Given the description of an element on the screen output the (x, y) to click on. 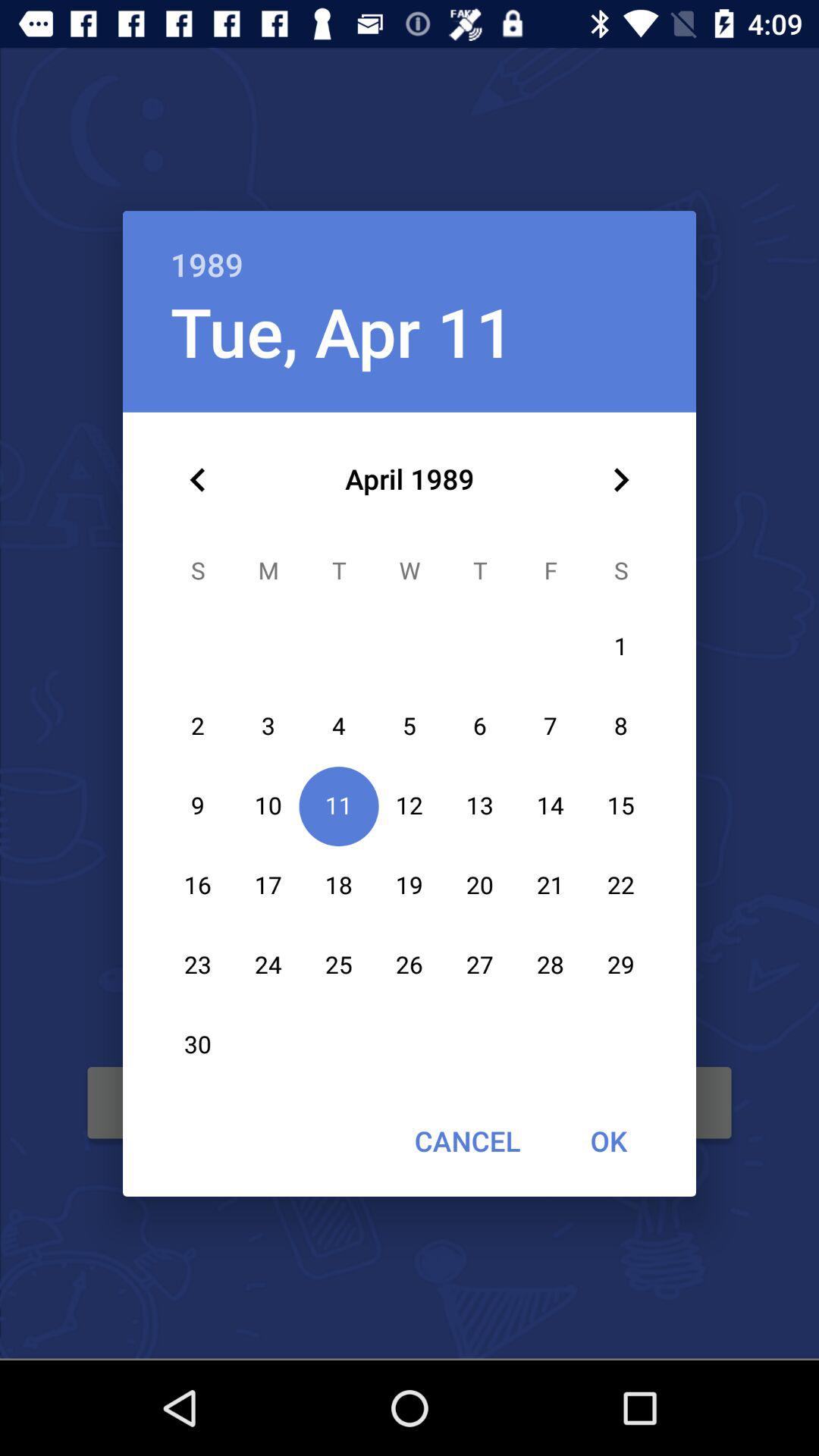
press the icon below 1989 icon (620, 479)
